Given the description of an element on the screen output the (x, y) to click on. 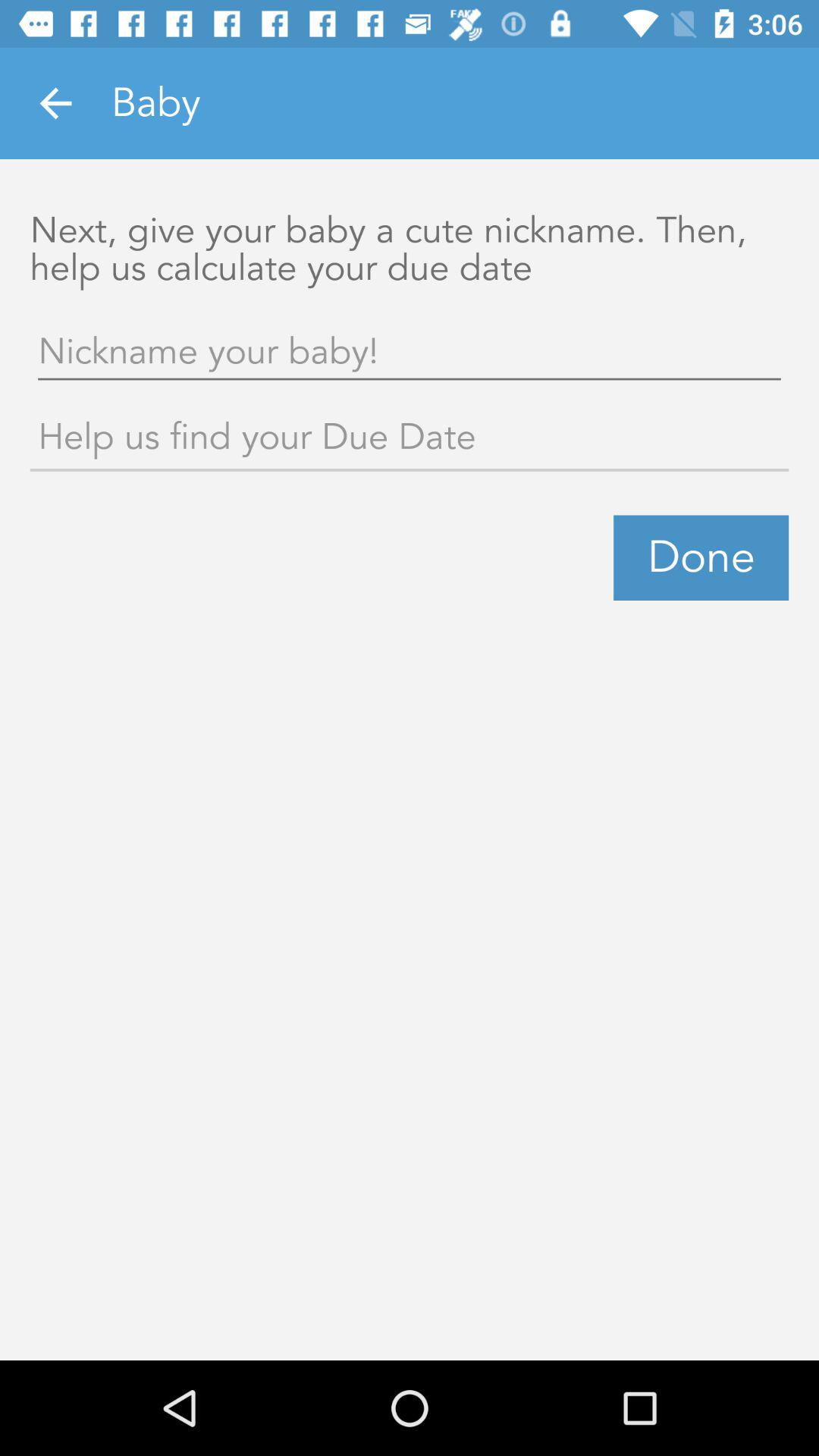
flip to the done icon (700, 557)
